Given the description of an element on the screen output the (x, y) to click on. 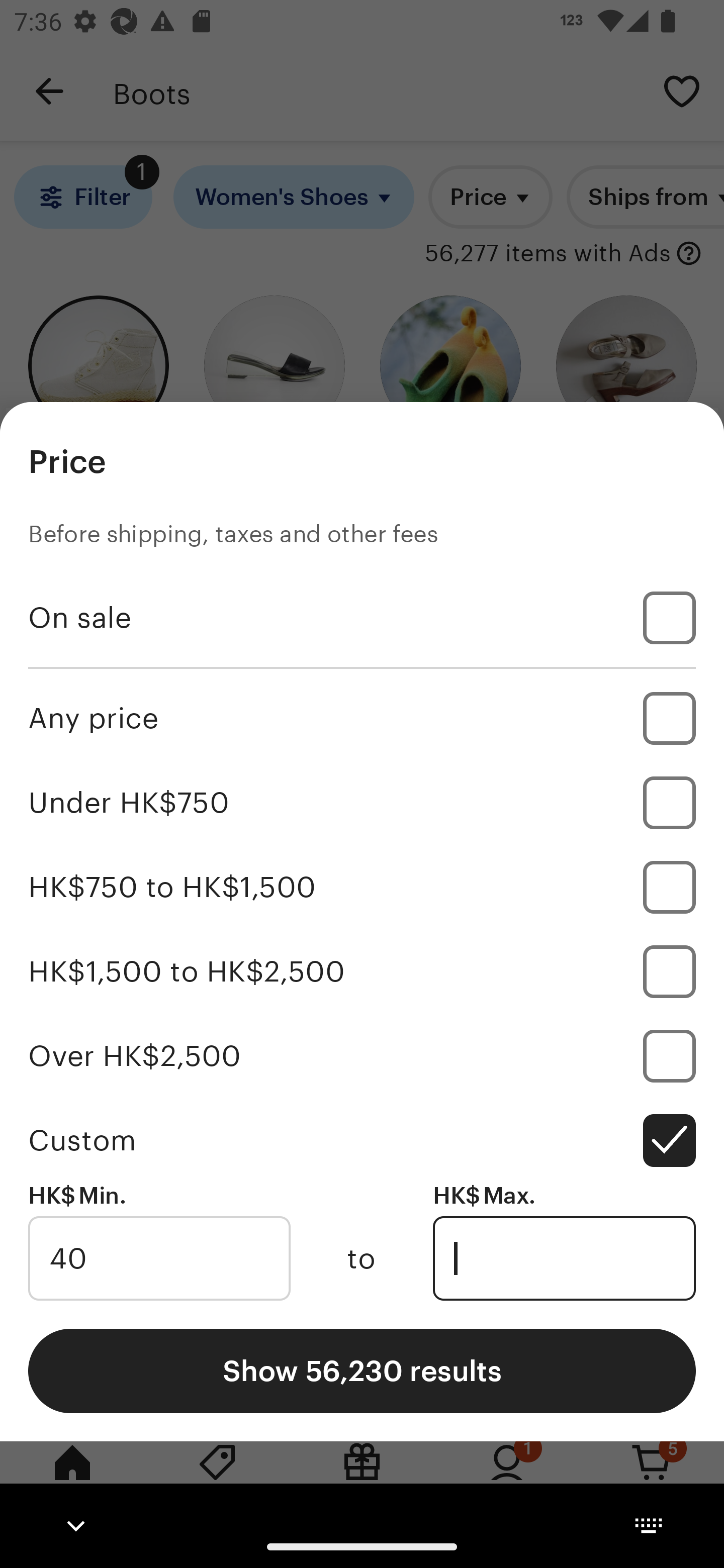
On sale (362, 617)
Any price (362, 717)
Under HK$750 (362, 802)
HK$750 to HK$1,500 (362, 887)
HK$1,500 to HK$2,500 (362, 970)
Over HK$2,500 (362, 1054)
Custom (362, 1139)
40 (159, 1257)
Show 56,230 results (361, 1370)
